Given the description of an element on the screen output the (x, y) to click on. 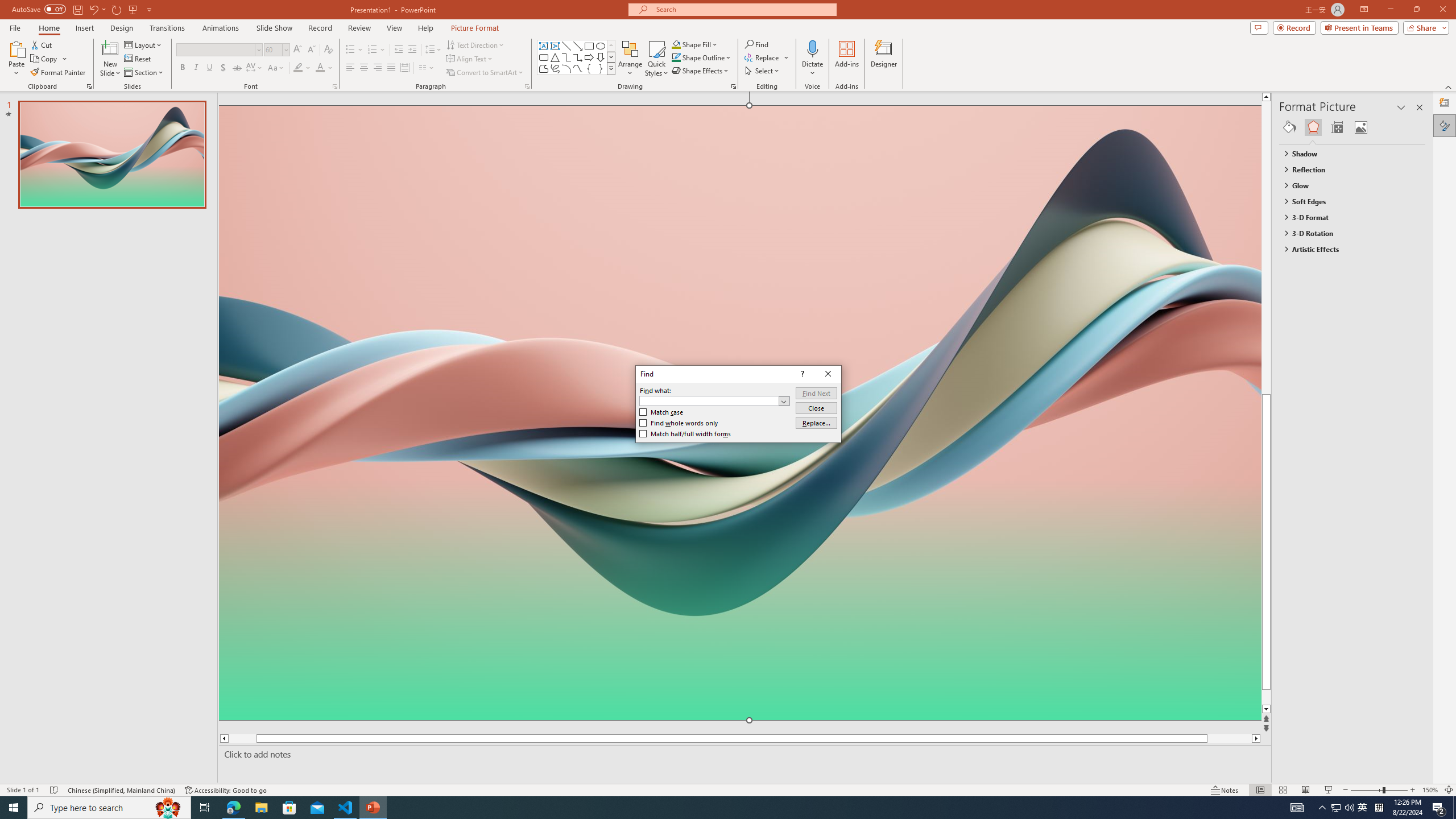
Context help (801, 374)
Fill & Line (1288, 126)
